Given the description of an element on the screen output the (x, y) to click on. 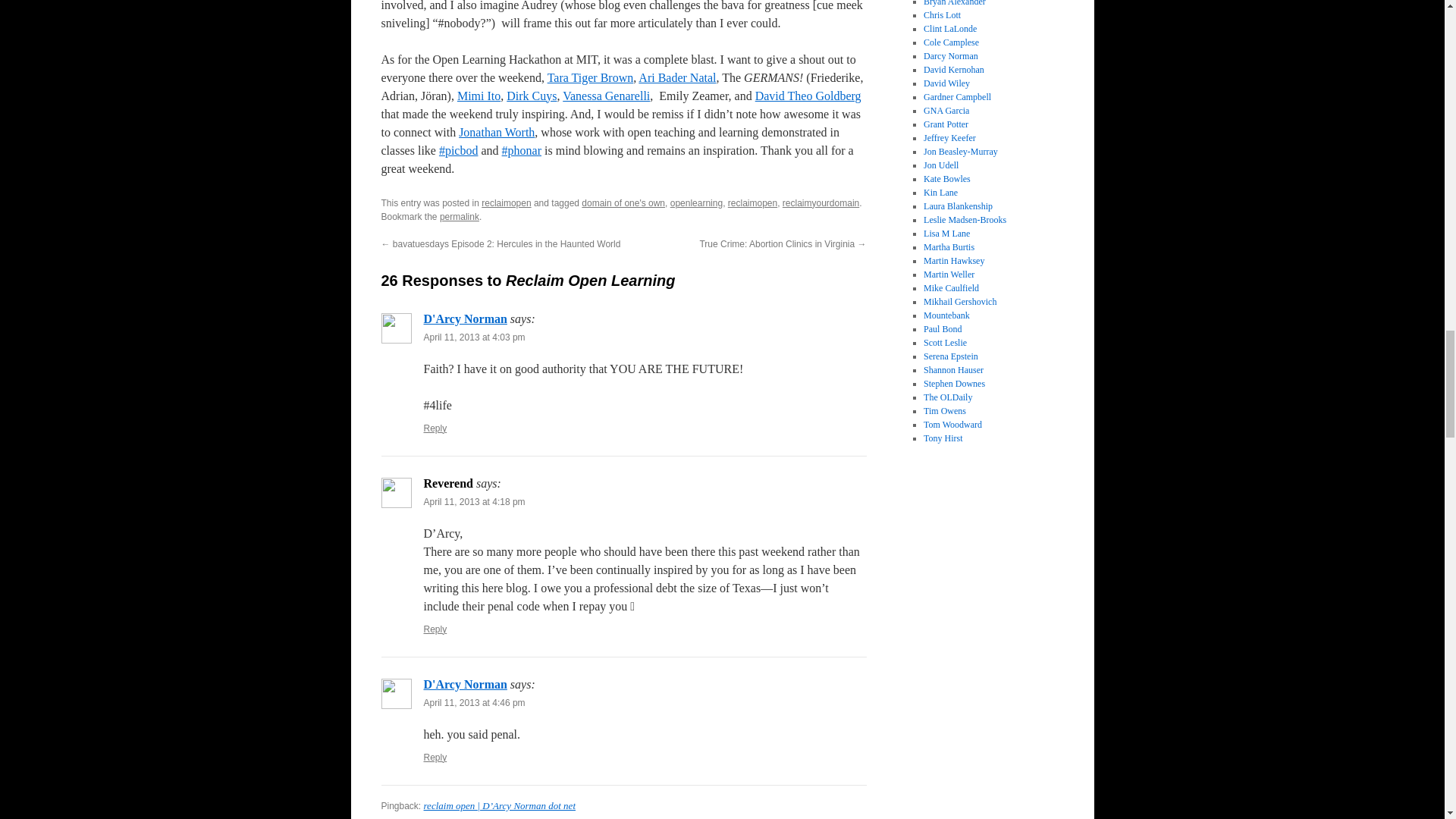
Lauren Blankenship lays it down (957, 205)
Permalink to Reclaim Open Learning (459, 216)
